Given the description of an element on the screen output the (x, y) to click on. 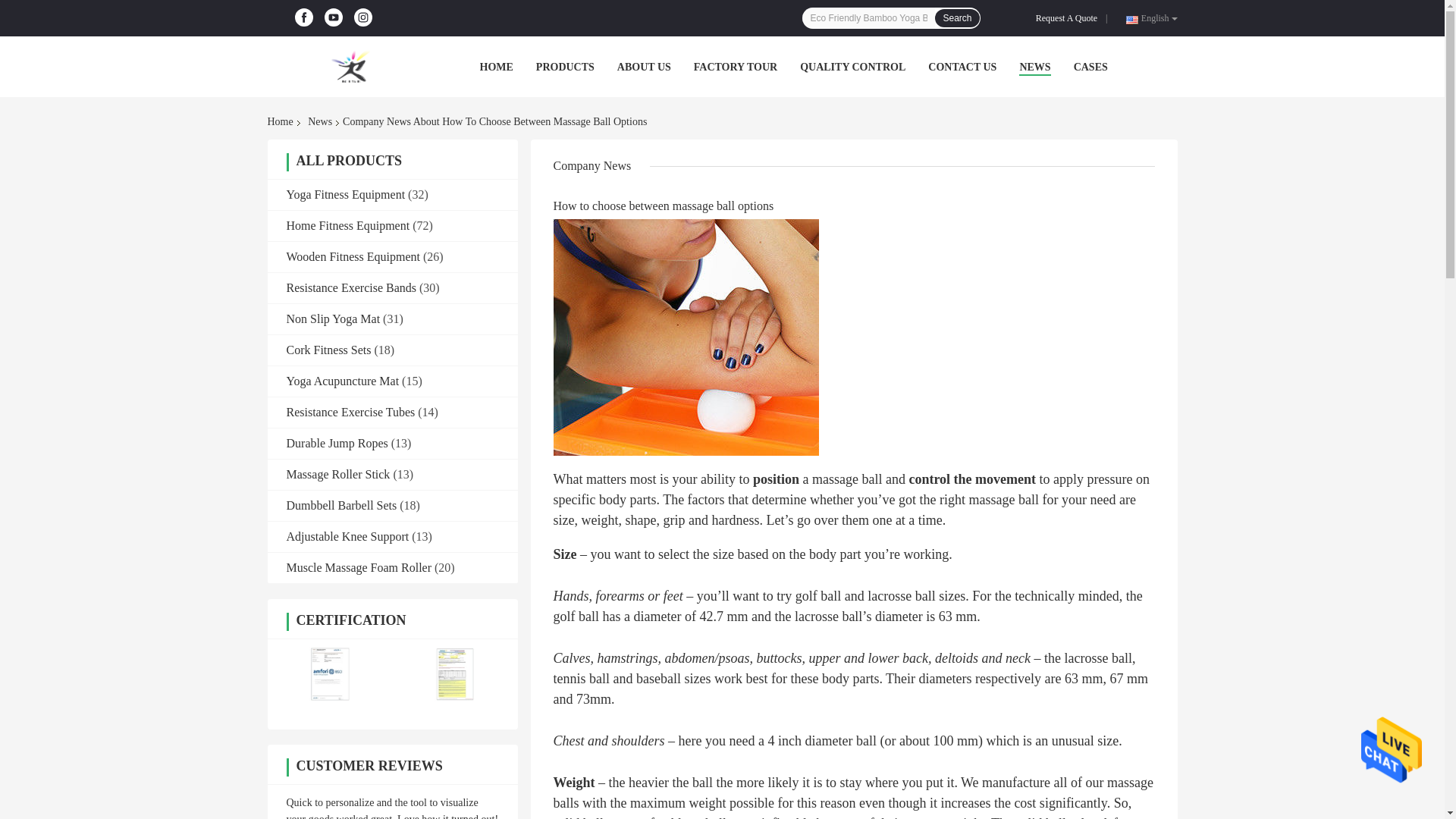
Home (282, 121)
Cork Fitness Sets (328, 349)
Wooden Fitness Equipment (353, 256)
QUALITY CONTROL (852, 66)
Rise Group Co., Ltd Facebook (303, 17)
Search (956, 18)
CONTACT US (961, 66)
NEWS (1034, 66)
FACTORY TOUR (735, 66)
Request A Quote (1069, 18)
